Given the description of an element on the screen output the (x, y) to click on. 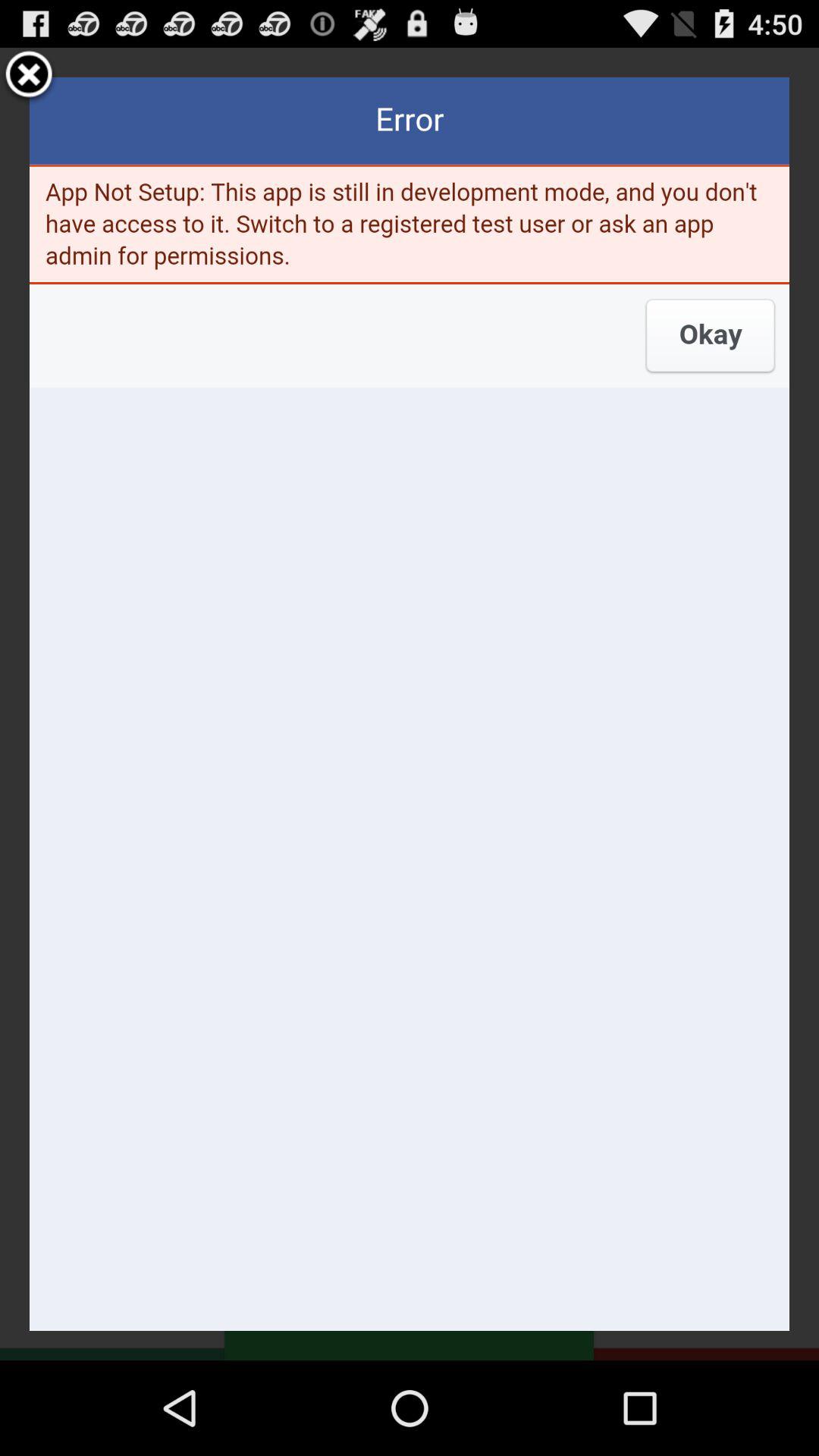
close the page (29, 76)
